Given the description of an element on the screen output the (x, y) to click on. 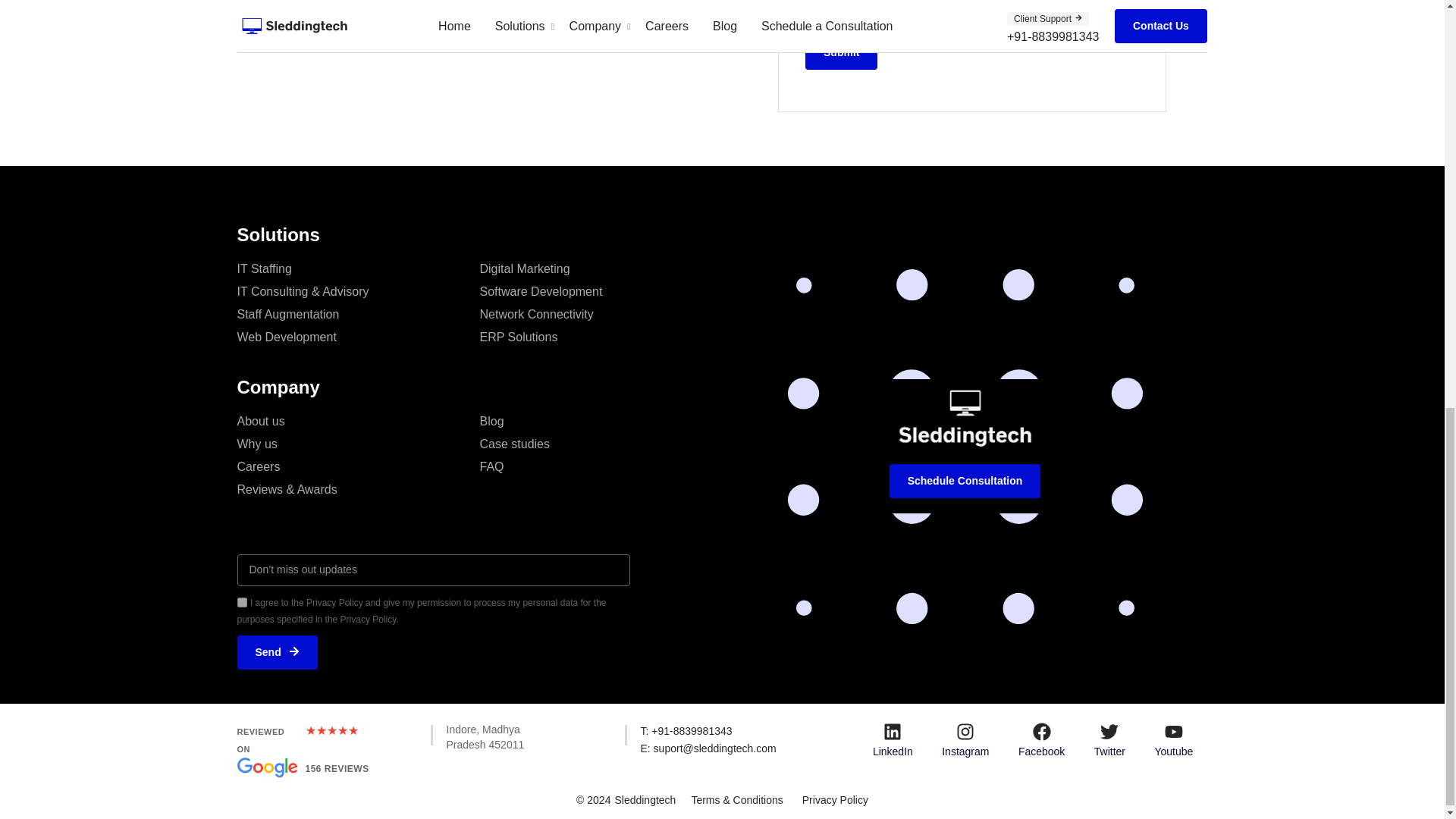
Submit (600, 455)
yes (841, 52)
